Given the description of an element on the screen output the (x, y) to click on. 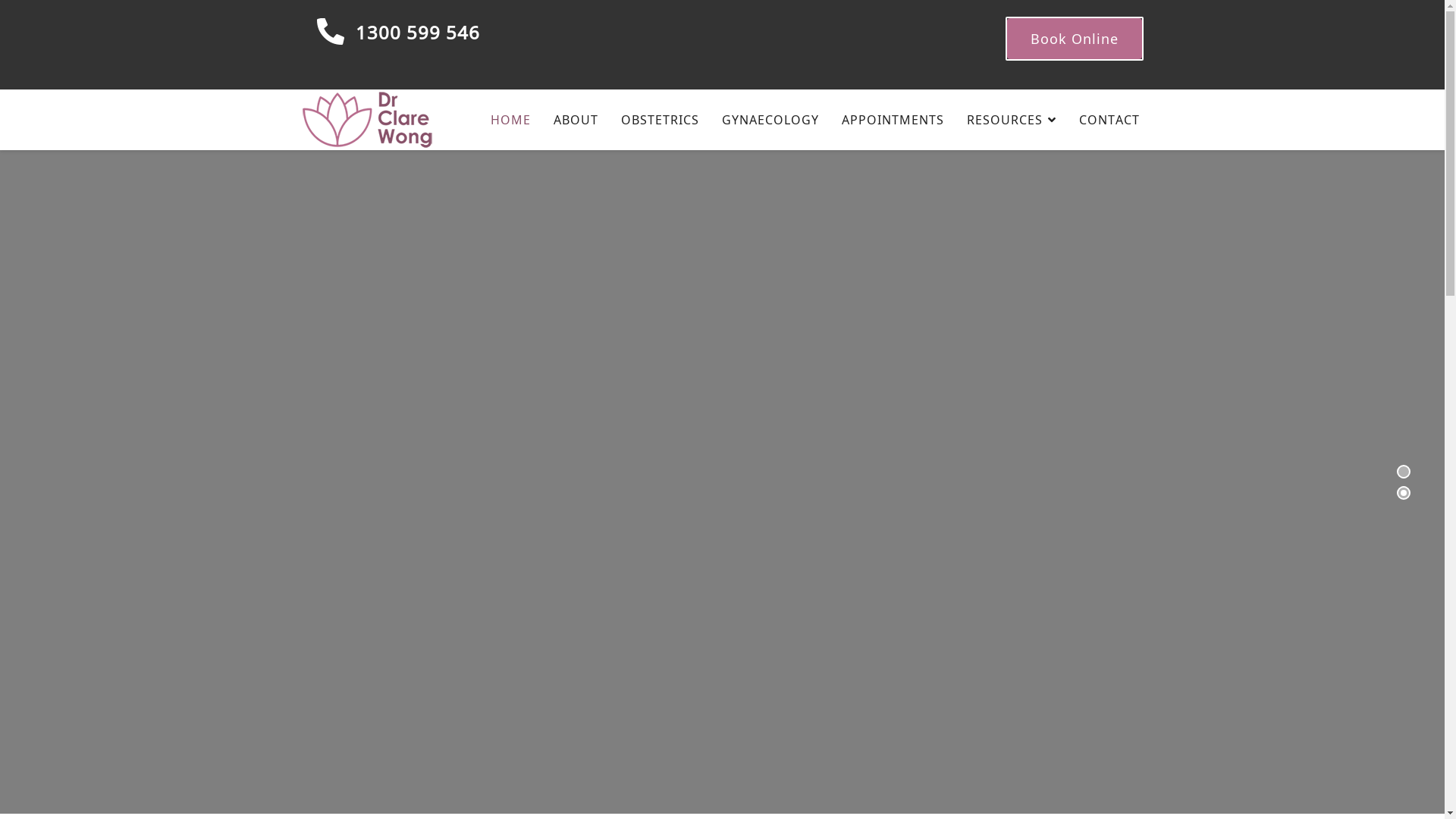
APPOINTMENTS Element type: text (891, 119)
CONTACT Element type: text (1103, 119)
ABOUT Element type: text (574, 119)
Our Obstetric Services Element type: text (390, 539)
1300 599 546 Element type: text (416, 31)
HOME Element type: text (510, 119)
GYNAECOLOGY Element type: text (769, 119)
OBSTETRICS Element type: text (659, 119)
RESOURCES Element type: text (1011, 119)
Book Online Element type: text (1074, 38)
